Given the description of an element on the screen output the (x, y) to click on. 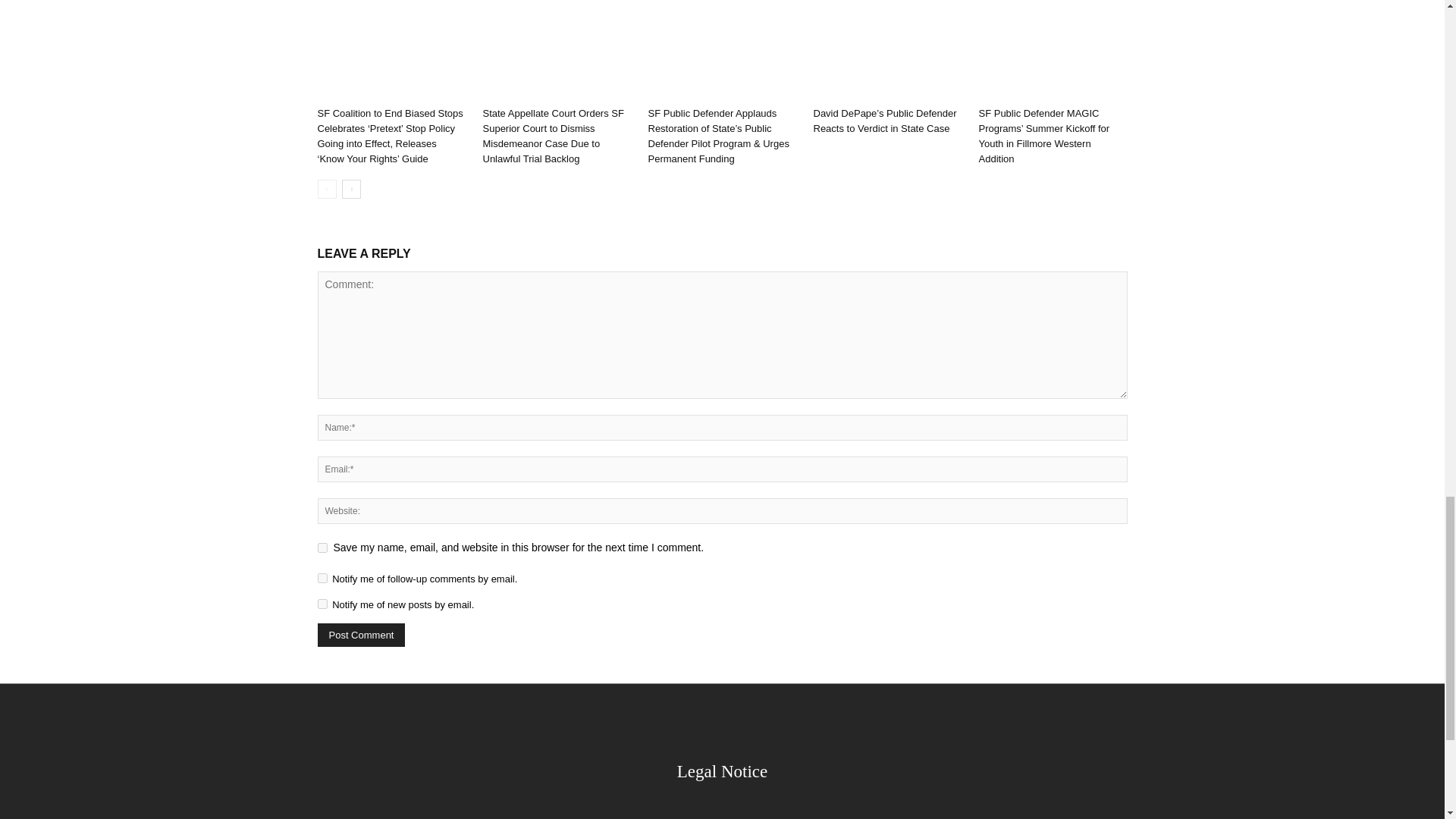
subscribe (321, 603)
Post Comment (360, 635)
subscribe (321, 578)
yes (321, 547)
